Given the description of an element on the screen output the (x, y) to click on. 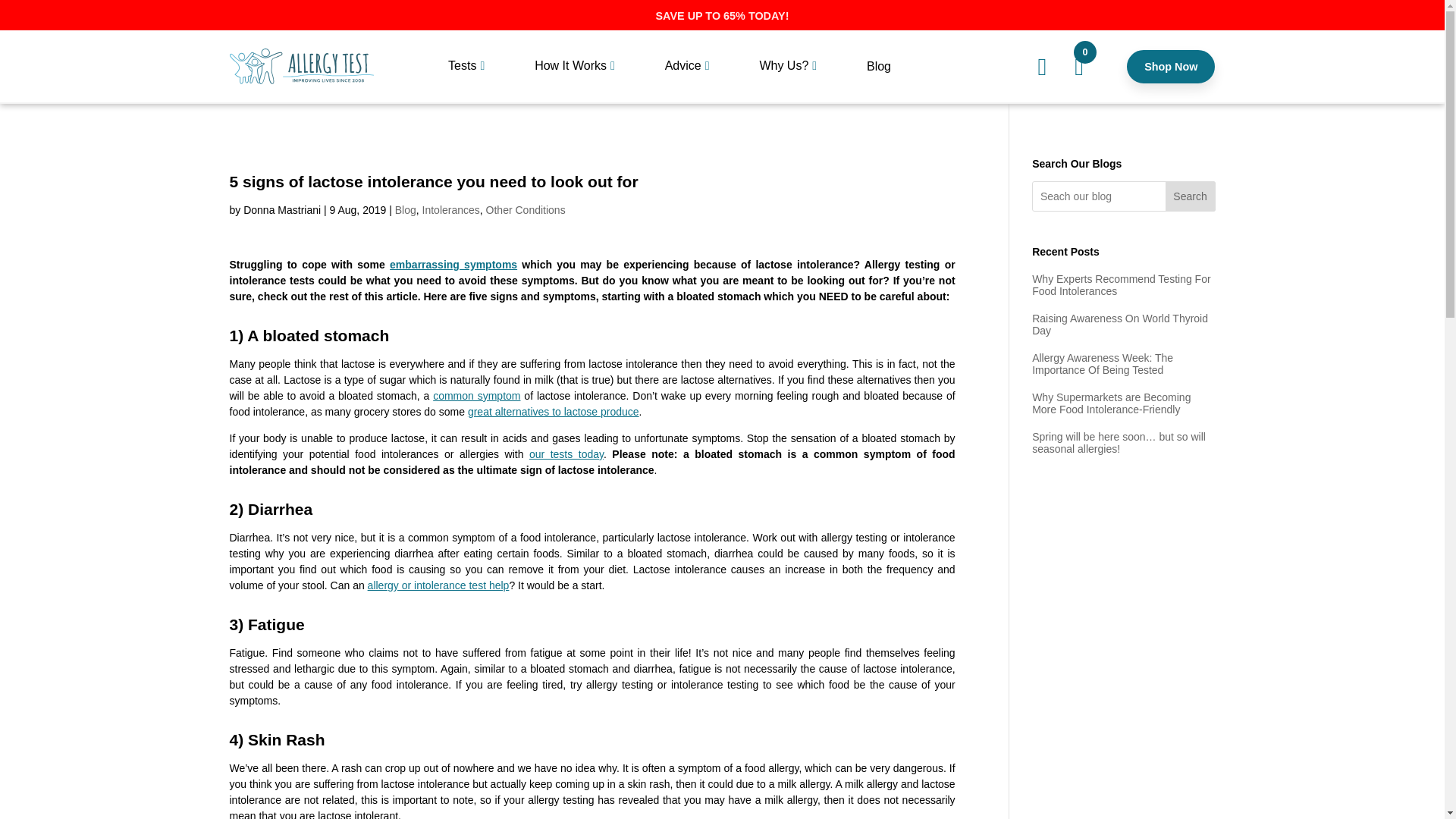
View your shopping cart (1079, 66)
Search (1190, 195)
Tests (467, 78)
How It Works (575, 78)
